Given the description of an element on the screen output the (x, y) to click on. 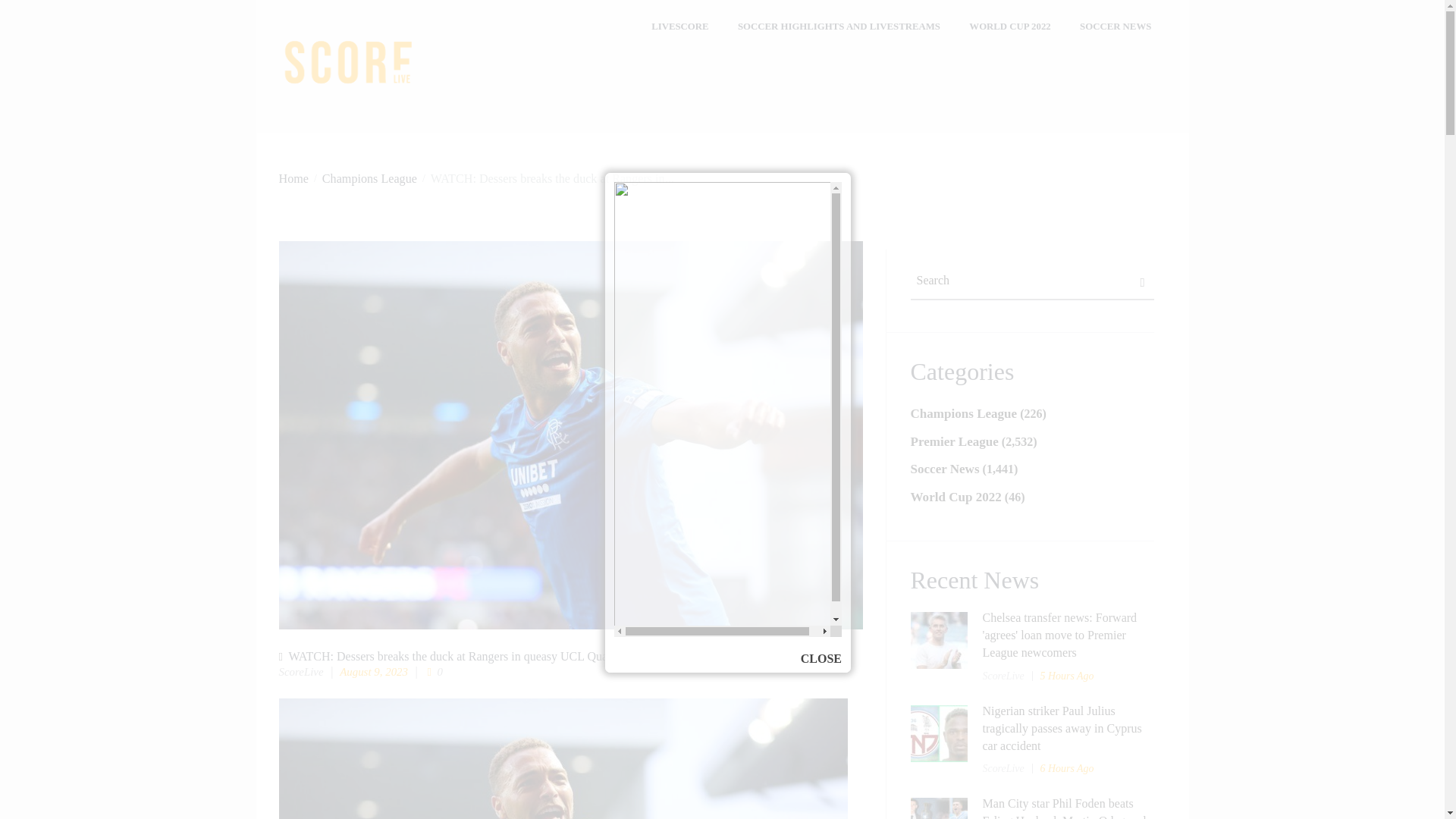
Soccer News (944, 468)
Champions League (963, 413)
WORLD CUP 2022 (1010, 26)
August 9, 2023 (373, 671)
Home (293, 178)
World Cup 2022 (955, 496)
SOCCER NEWS (1115, 26)
LIVESCORE (680, 26)
Champions League (368, 178)
